Given the description of an element on the screen output the (x, y) to click on. 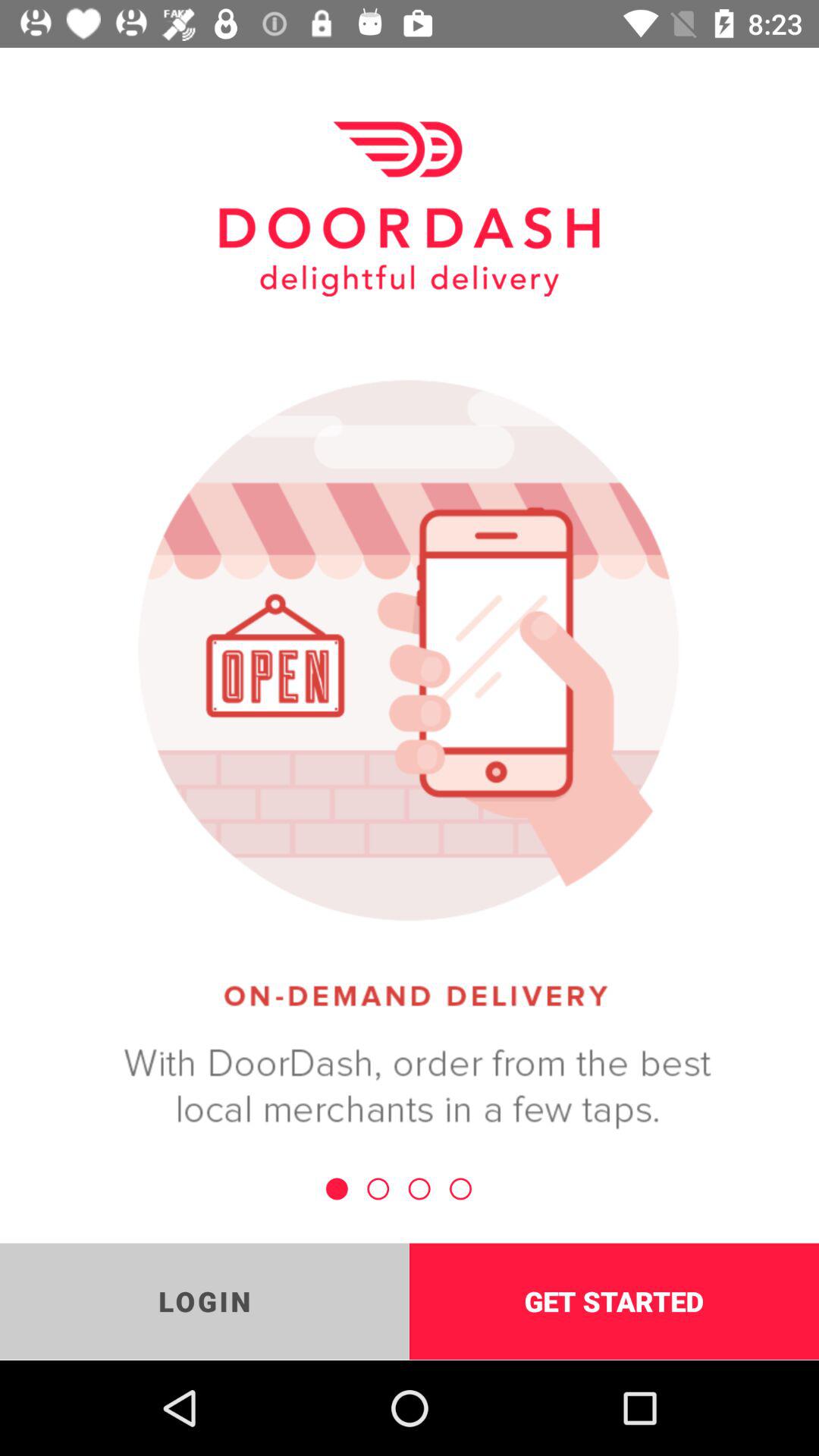
open login item (204, 1301)
